Given the description of an element on the screen output the (x, y) to click on. 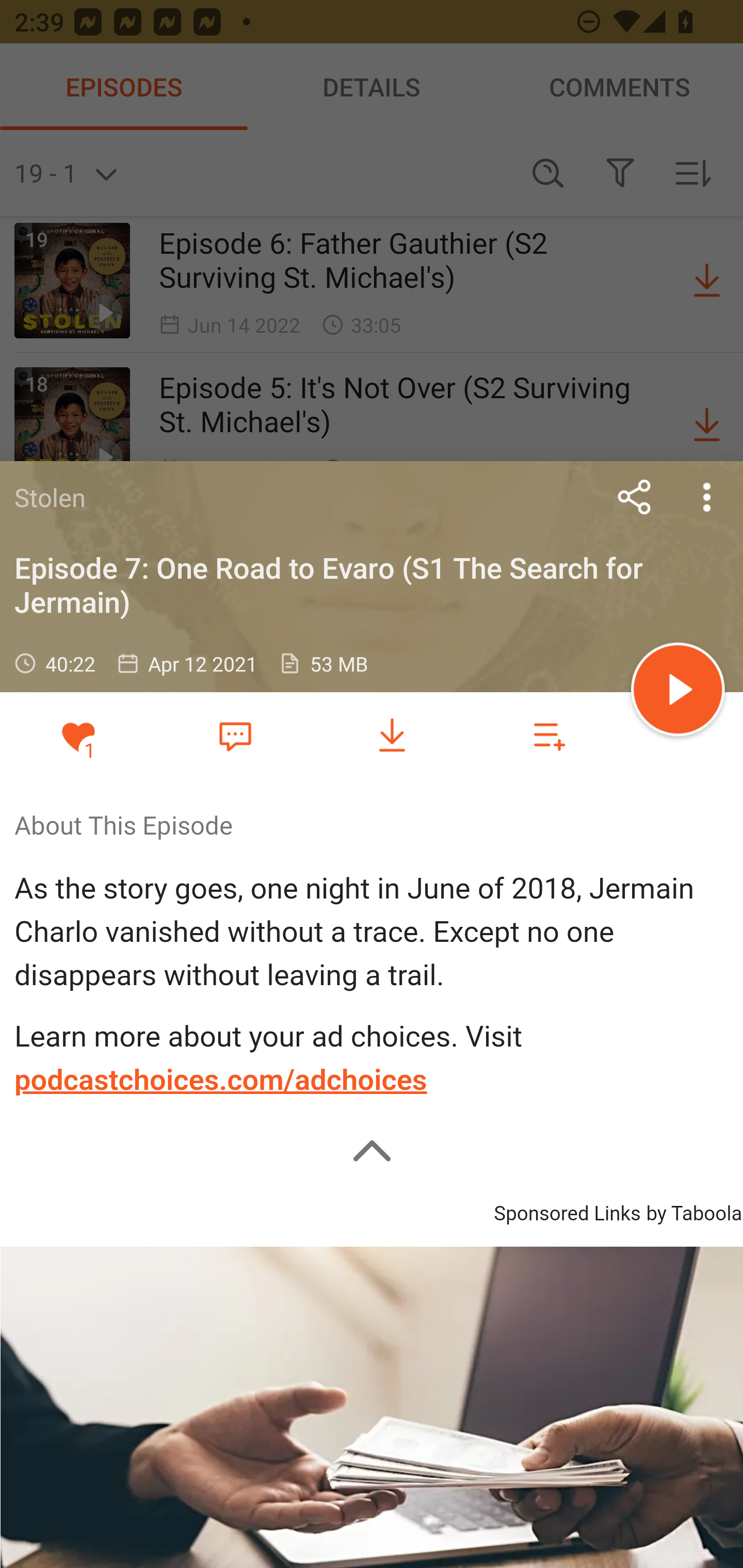
Share (634, 496)
more options (706, 496)
Play (677, 692)
Favorite (234, 735)
Remove from Favorites (78, 735)
Download (391, 735)
Add to playlist (548, 735)
podcastchoices.com/adchoices (220, 1079)
Sponsored Links (566, 1210)
by Taboola (693, 1210)
Need Cash? Secure Personal Loans Instantly (371, 1407)
